Given the description of an element on the screen output the (x, y) to click on. 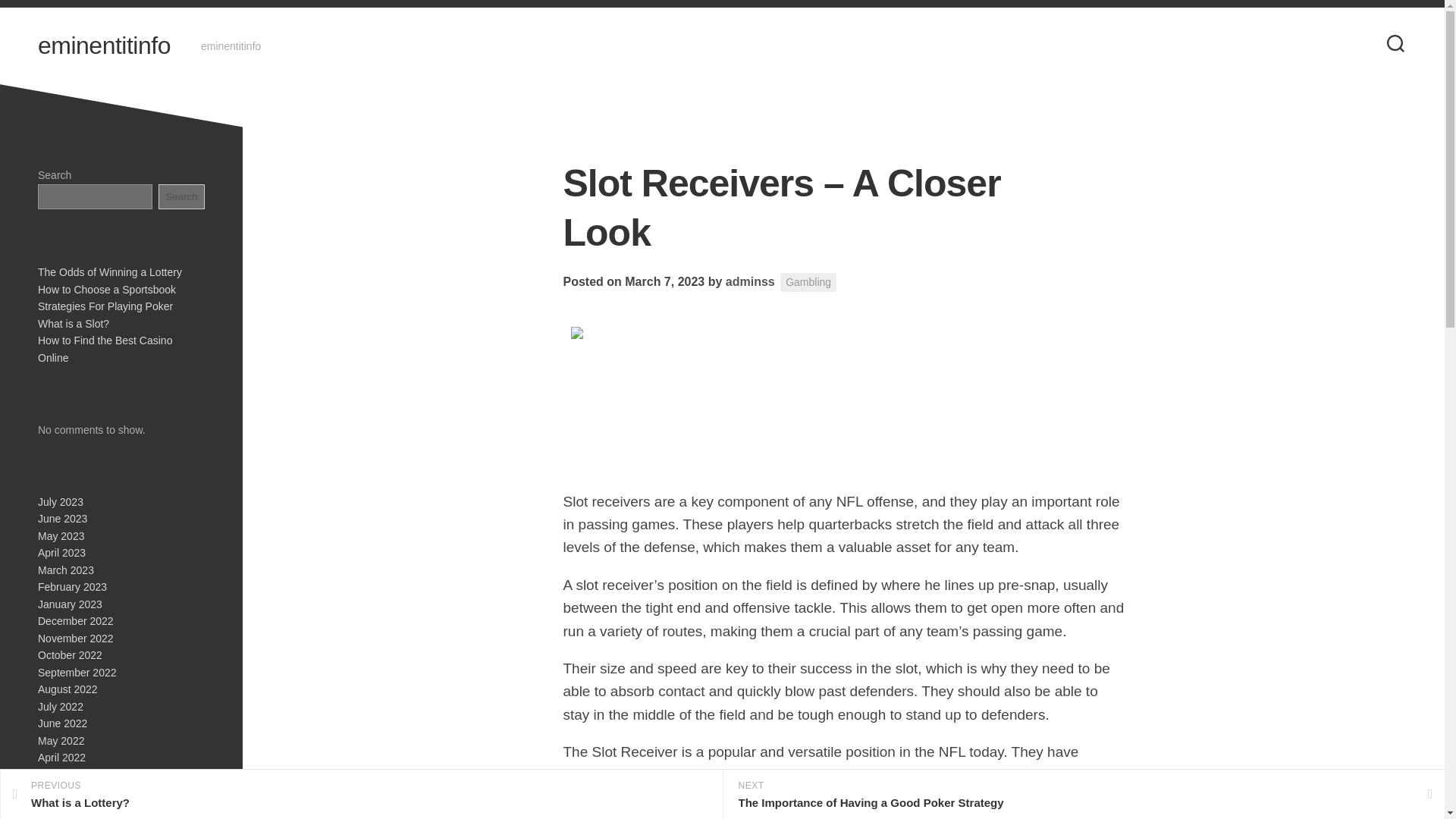
June 2022 (62, 723)
March 2023 (65, 570)
How to Find the Best Casino Online (104, 348)
October 2022 (69, 654)
Gambling (807, 281)
June 2023 (62, 518)
Strategies For Playing Poker (105, 306)
December 2022 (75, 621)
eminentitinfo (103, 44)
April 2023 (61, 552)
The Odds of Winning a Lottery (109, 272)
What is a Slot? (73, 322)
adminss (749, 281)
May 2023 (60, 535)
